Given the description of an element on the screen output the (x, y) to click on. 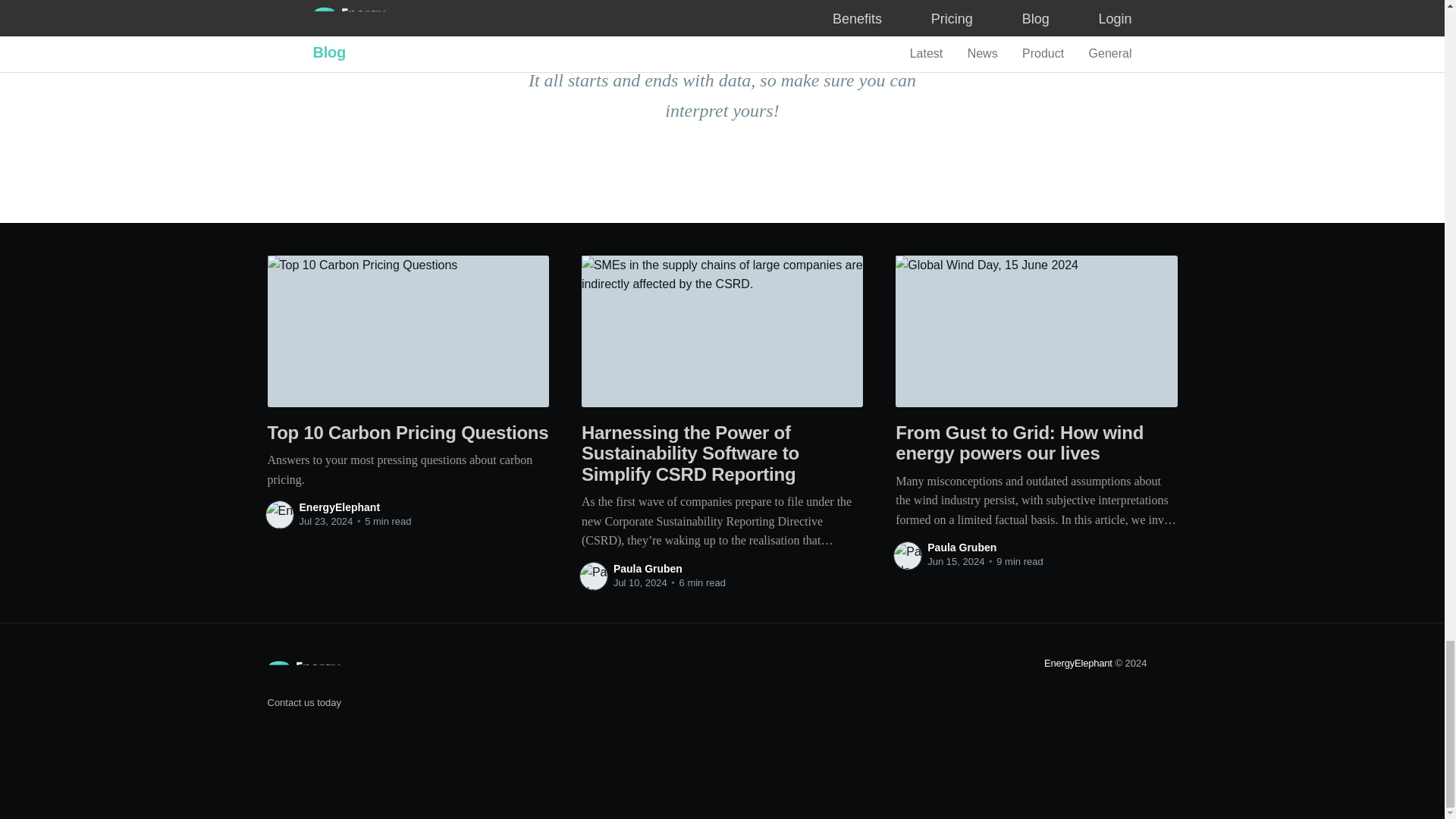
Paula Gruben (647, 568)
Contact us today (303, 702)
EnergyElephant (339, 507)
EnergyElephant (1077, 663)
Paula Gruben (961, 547)
